Given the description of an element on the screen output the (x, y) to click on. 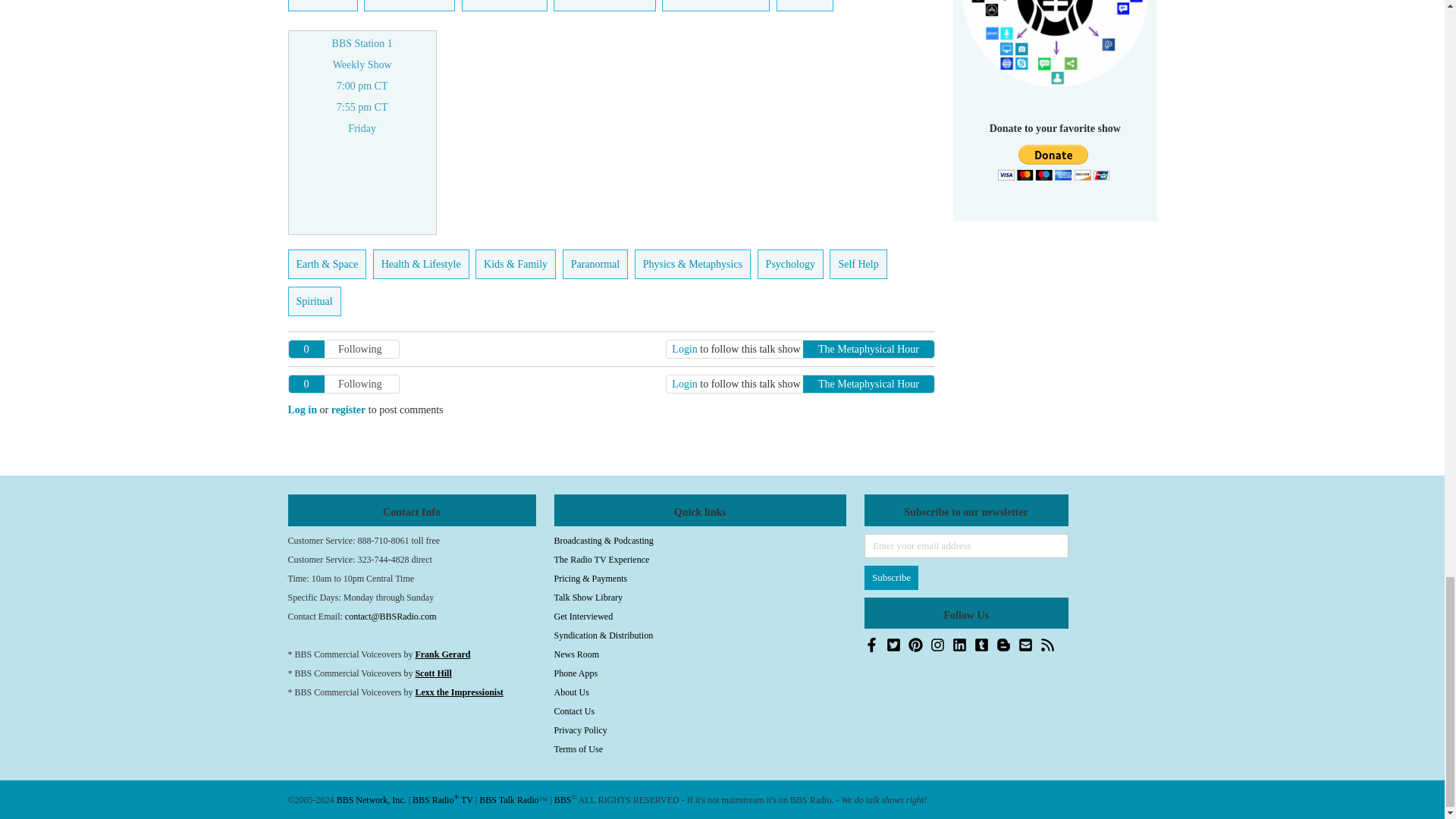
Subscribe (891, 577)
